Given the description of an element on the screen output the (x, y) to click on. 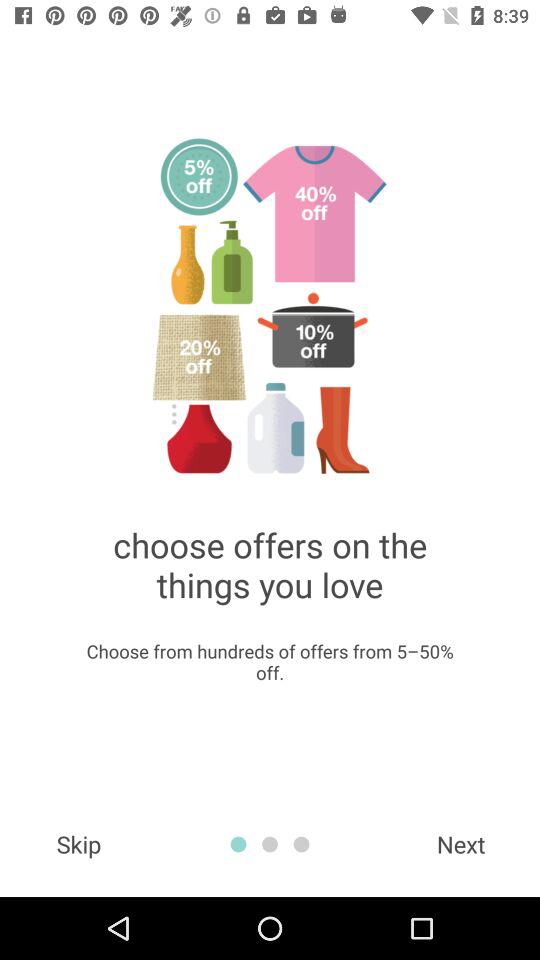
select skip icon (78, 844)
